Given the description of an element on the screen output the (x, y) to click on. 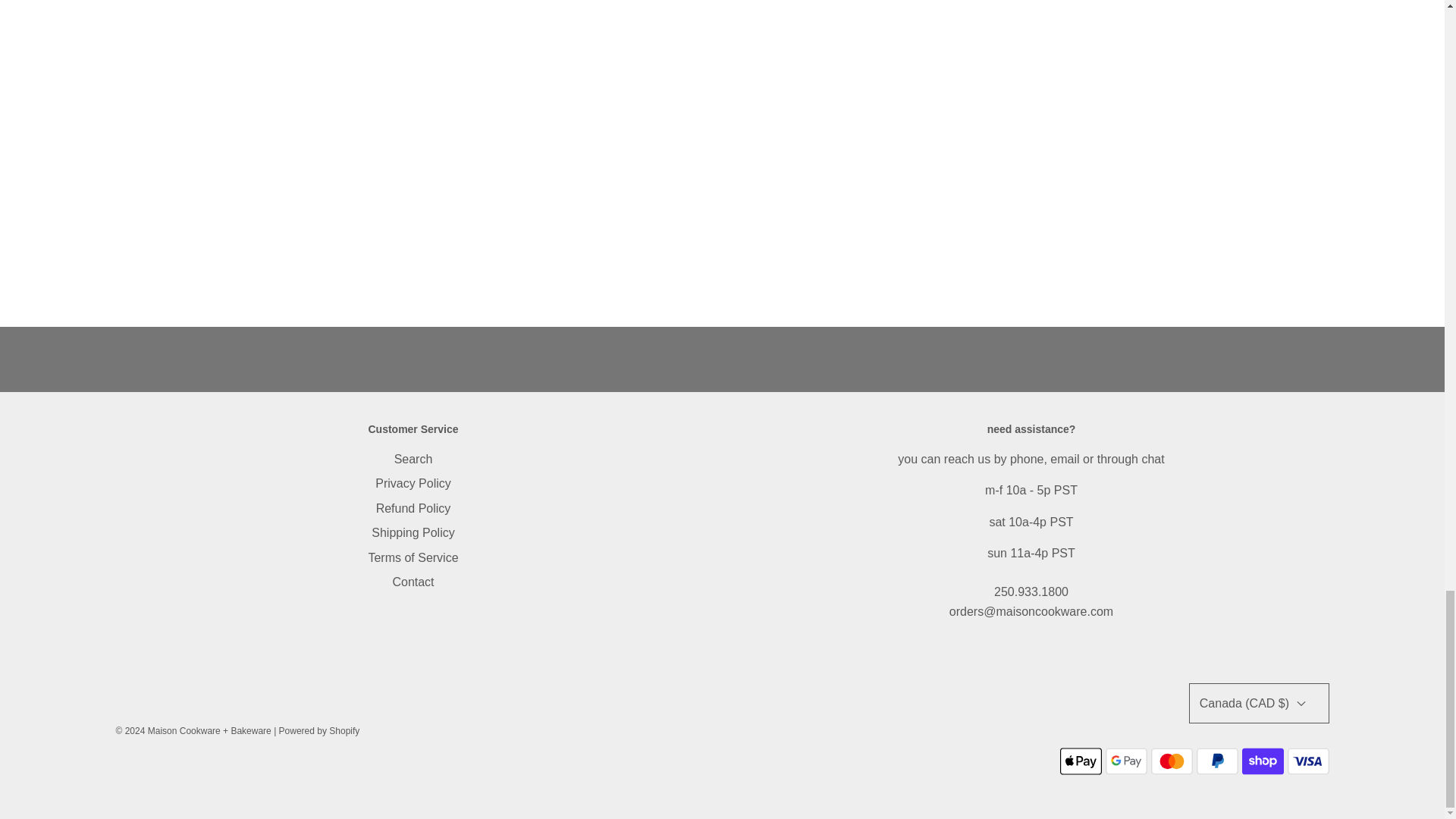
PayPal (1217, 761)
Shop Pay (1262, 761)
Mastercard (1171, 761)
Apple Pay (1080, 761)
Google Pay (1126, 761)
Visa (1308, 761)
